Given the description of an element on the screen output the (x, y) to click on. 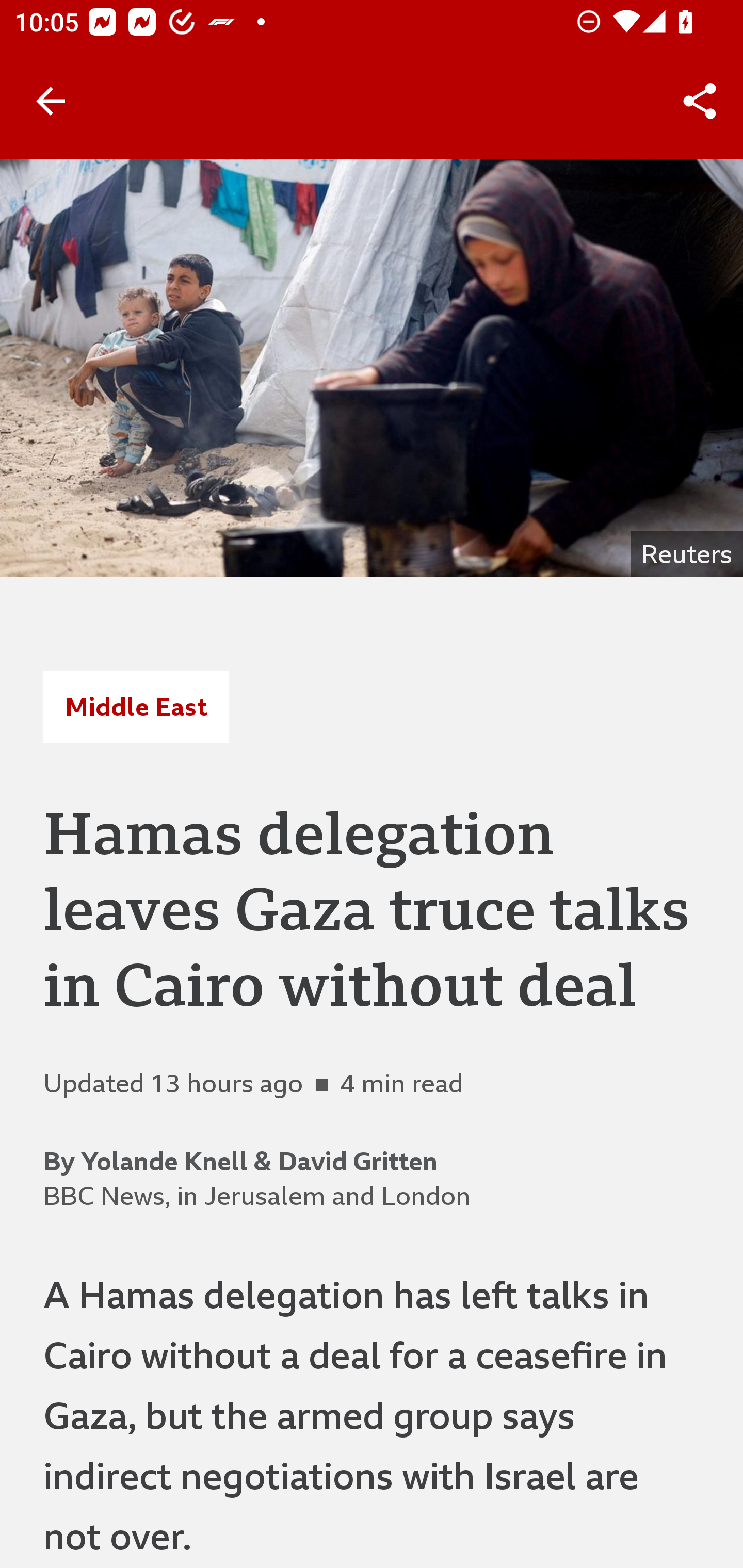
Back (50, 101)
Share (699, 101)
Middle East (135, 706)
